Given the description of an element on the screen output the (x, y) to click on. 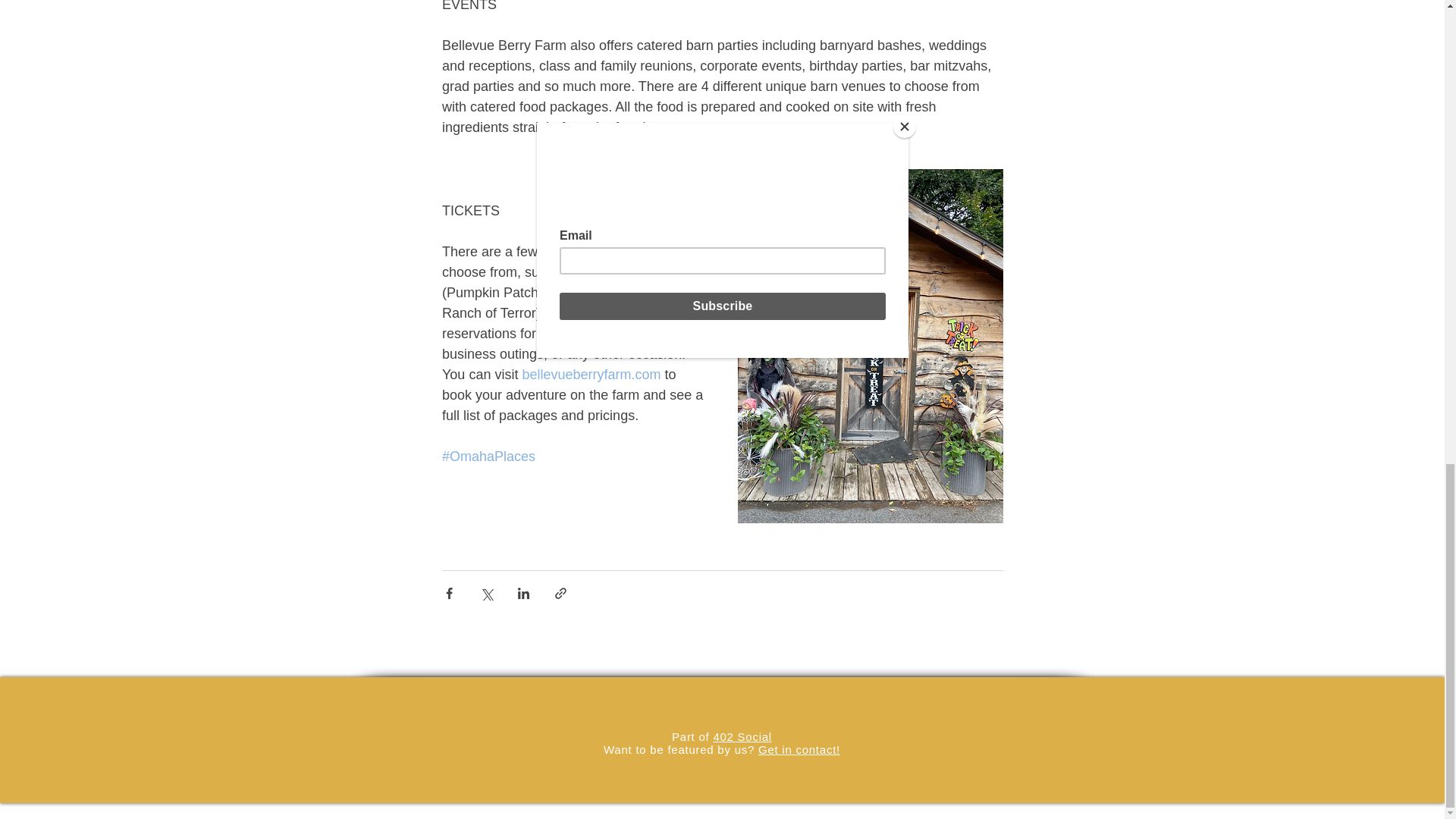
bellevueberryfarm.com (591, 374)
